Given the description of an element on the screen output the (x, y) to click on. 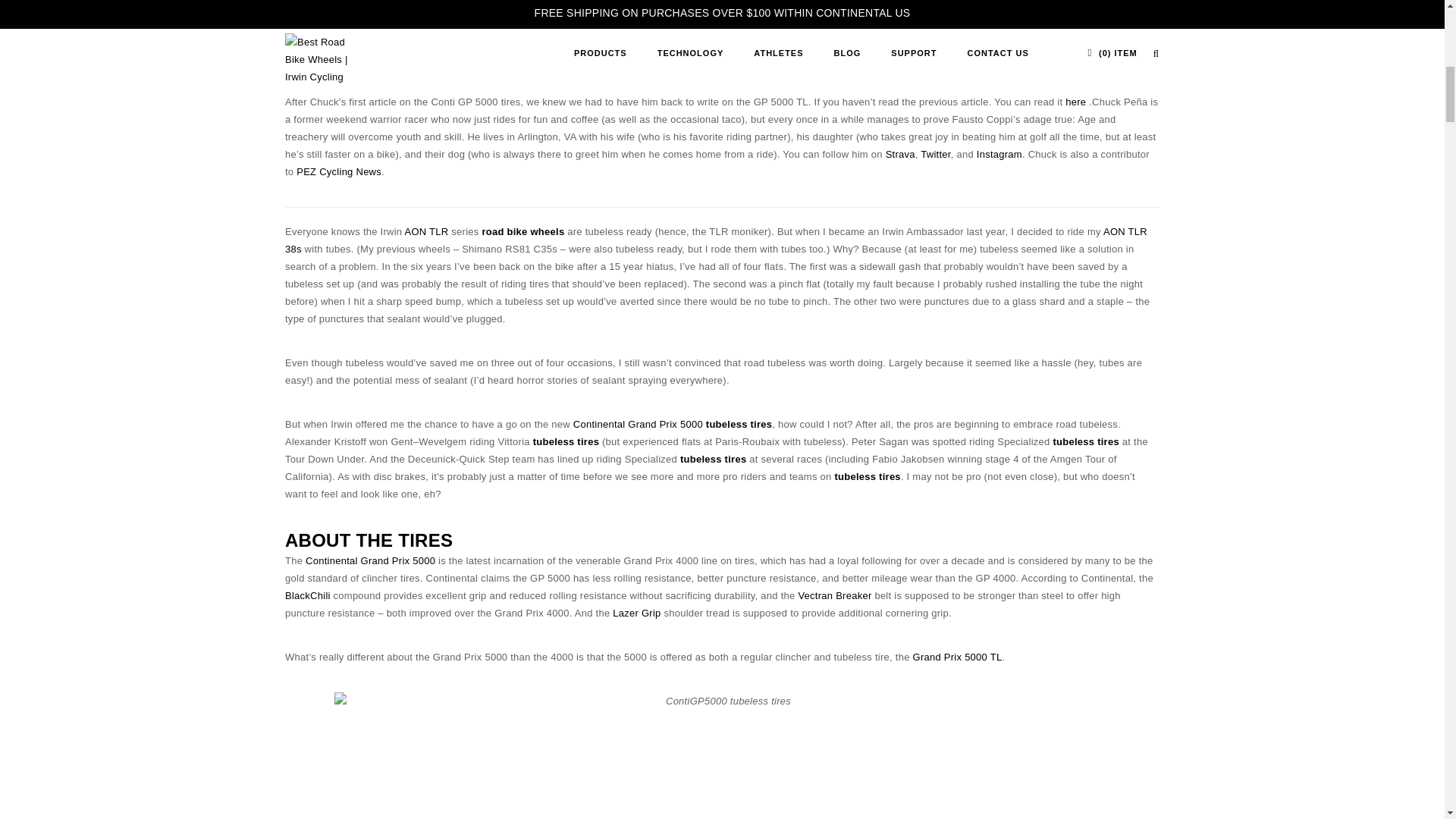
Instagram (999, 153)
AON TLR (426, 231)
Twitter (935, 153)
Continental Grand Prix 5000 (638, 423)
Strava (900, 153)
here (1075, 101)
tubeless tires (565, 441)
PEZ Cycling News (339, 171)
road bike wheels (522, 231)
AON TLR 38s (716, 240)
